Given the description of an element on the screen output the (x, y) to click on. 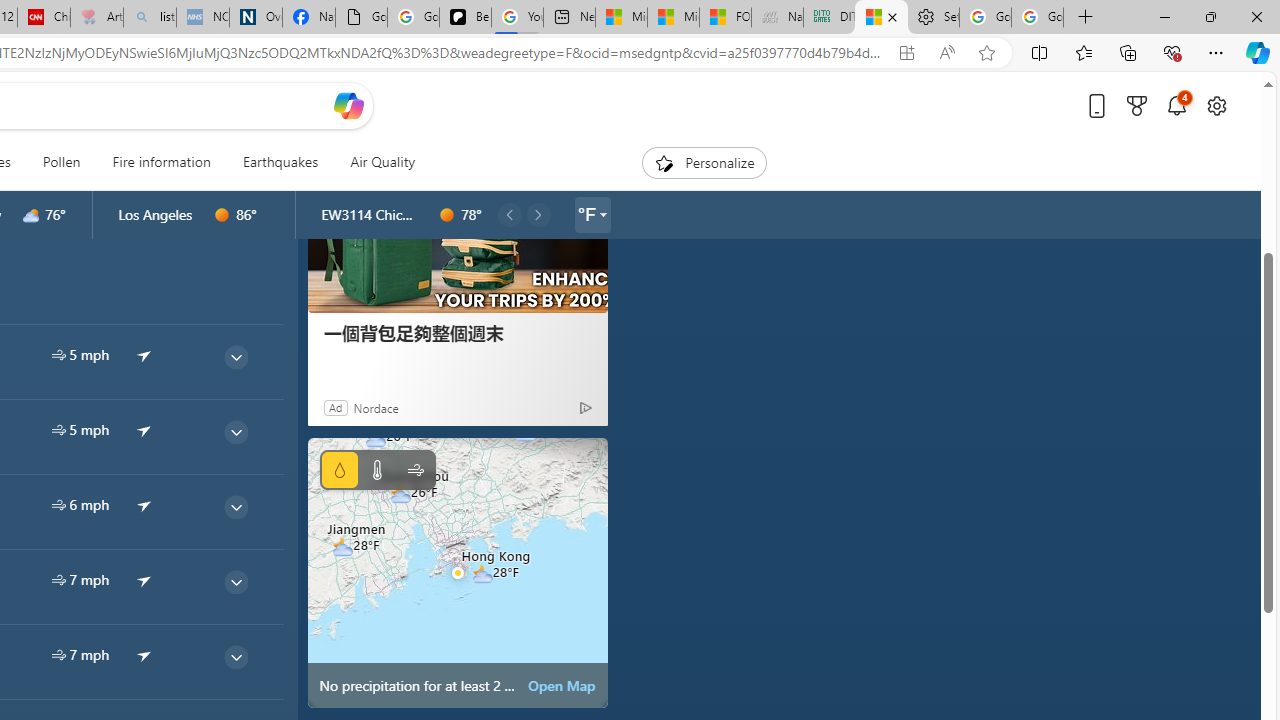
Personalize (703, 162)
Wind (414, 470)
d3000 (31, 215)
common/thinArrow (235, 656)
Open Map (561, 685)
Precipitation (339, 470)
Be Smart | creating Science videos | Patreon (465, 17)
DITOGAMES AG Imprint (829, 17)
